Given the description of an element on the screen output the (x, y) to click on. 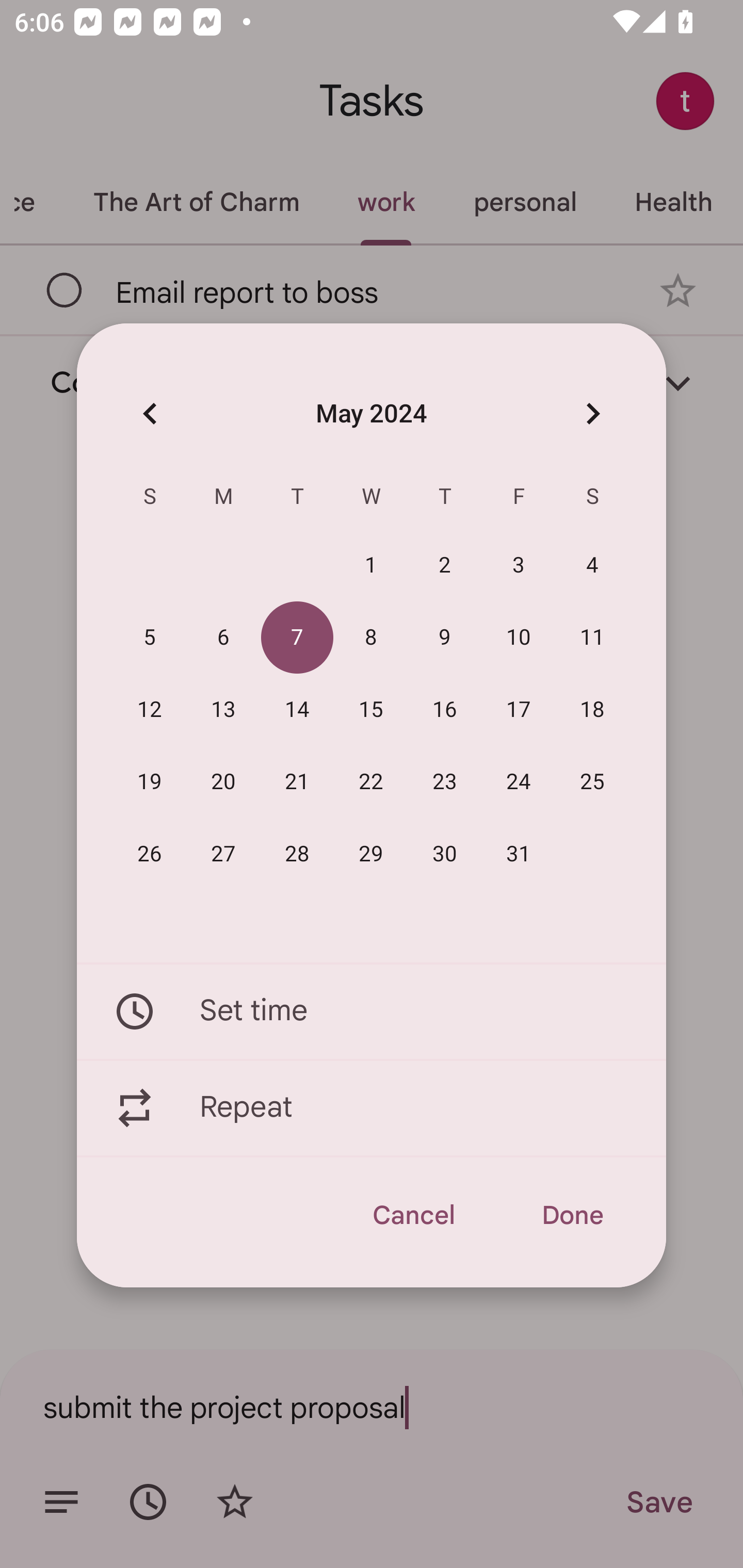
Previous month (149, 413)
Next month (592, 413)
1 01 May 2024 (370, 565)
2 02 May 2024 (444, 565)
3 03 May 2024 (518, 565)
4 04 May 2024 (592, 565)
5 05 May 2024 (149, 638)
6 06 May 2024 (223, 638)
7 07 May 2024 (297, 638)
8 08 May 2024 (370, 638)
9 09 May 2024 (444, 638)
10 10 May 2024 (518, 638)
11 11 May 2024 (592, 638)
12 12 May 2024 (149, 710)
13 13 May 2024 (223, 710)
14 14 May 2024 (297, 710)
15 15 May 2024 (370, 710)
16 16 May 2024 (444, 710)
17 17 May 2024 (518, 710)
18 18 May 2024 (592, 710)
19 19 May 2024 (149, 782)
20 20 May 2024 (223, 782)
21 21 May 2024 (297, 782)
22 22 May 2024 (370, 782)
23 23 May 2024 (444, 782)
24 24 May 2024 (518, 782)
25 25 May 2024 (592, 782)
26 26 May 2024 (149, 854)
27 27 May 2024 (223, 854)
28 28 May 2024 (297, 854)
29 29 May 2024 (370, 854)
30 30 May 2024 (444, 854)
31 31 May 2024 (518, 854)
Set time (371, 1011)
Repeat (371, 1108)
Cancel (412, 1215)
Done (571, 1215)
